Given the description of an element on the screen output the (x, y) to click on. 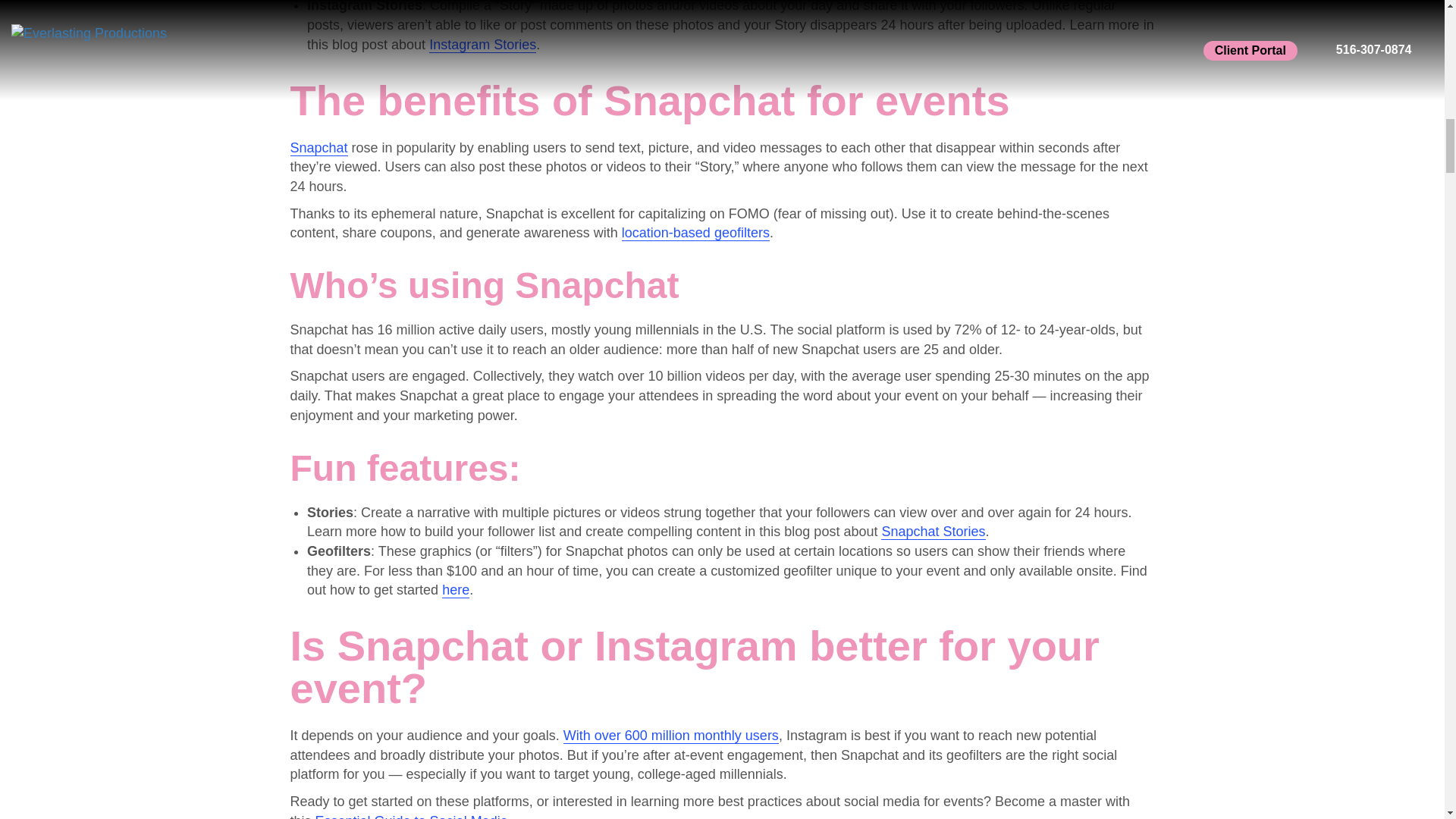
Snapchat (318, 146)
Essential Guide to Social Media (411, 816)
location-based geofilters (695, 232)
here (455, 589)
Snapchat Stories (932, 531)
With over 600 million monthly users (670, 735)
Instagram Stories (482, 44)
